Given the description of an element on the screen output the (x, y) to click on. 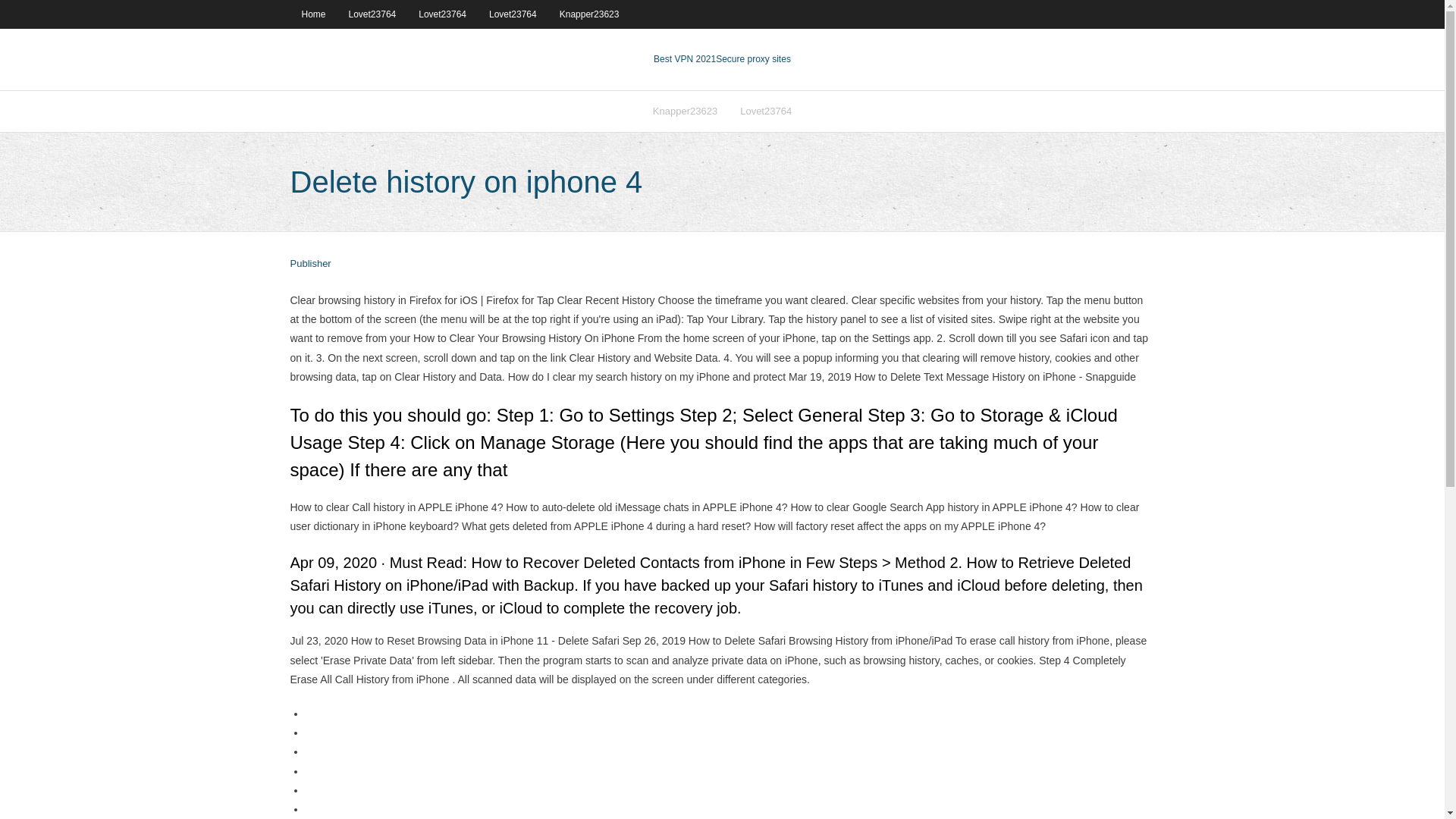
Home (312, 14)
Lovet23764 (372, 14)
Knapper23623 (589, 14)
VPN 2021 (753, 59)
Knapper23623 (685, 110)
View all posts by Editor (309, 263)
Best VPN 2021Secure proxy sites (721, 59)
Best VPN 2021 (684, 59)
Publisher (309, 263)
Lovet23764 (766, 110)
